Given the description of an element on the screen output the (x, y) to click on. 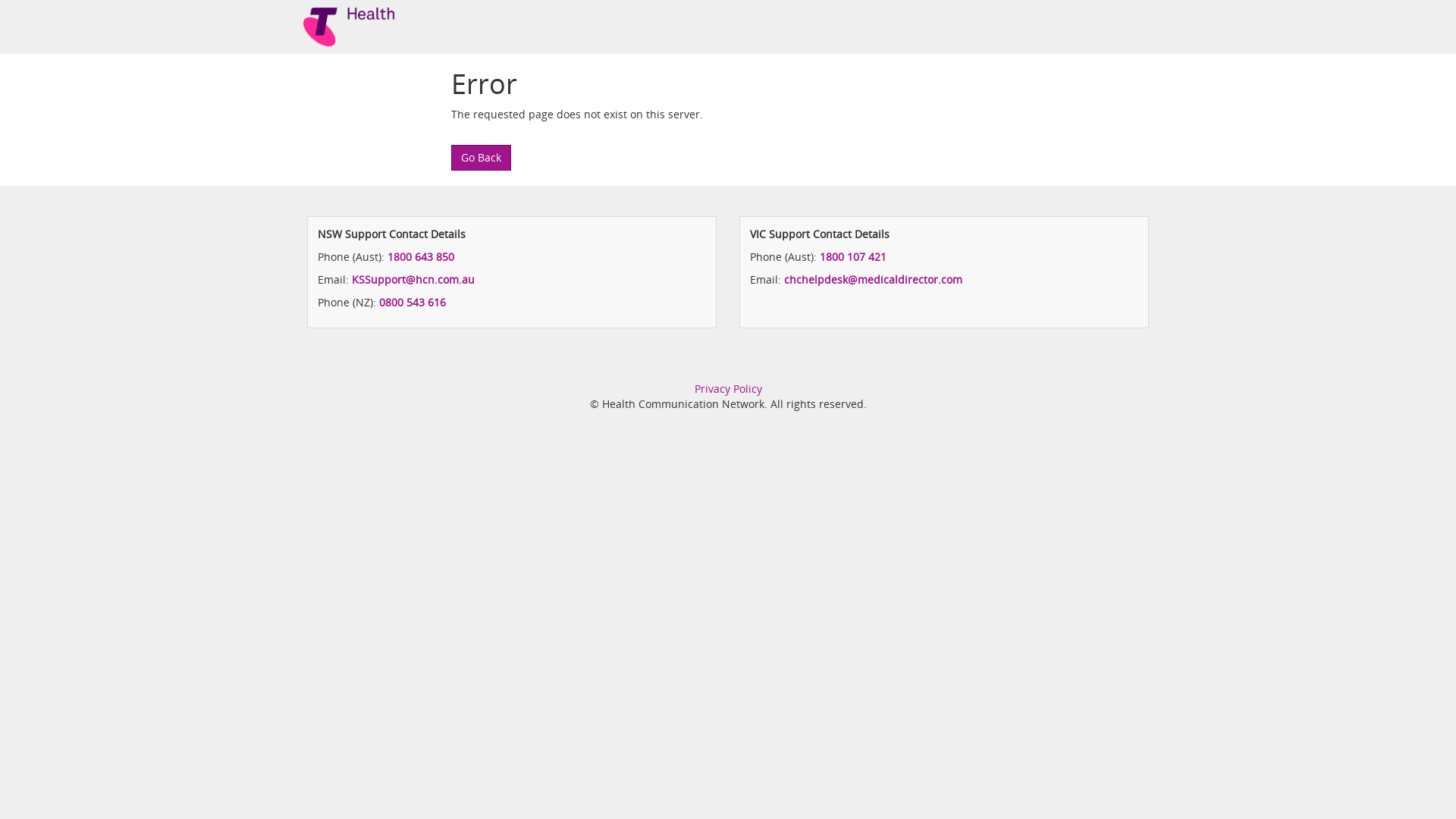
1800 107 421 Element type: text (852, 256)
chchelpdesk@medicaldirector.com Element type: text (873, 279)
Go Back Element type: text (481, 157)
0800 543 616 Element type: text (412, 301)
1800 643 850 Element type: text (420, 256)
Privacy Policy Element type: text (728, 388)
KSSupport@hcn.com.au Element type: text (412, 279)
